Given the description of an element on the screen output the (x, y) to click on. 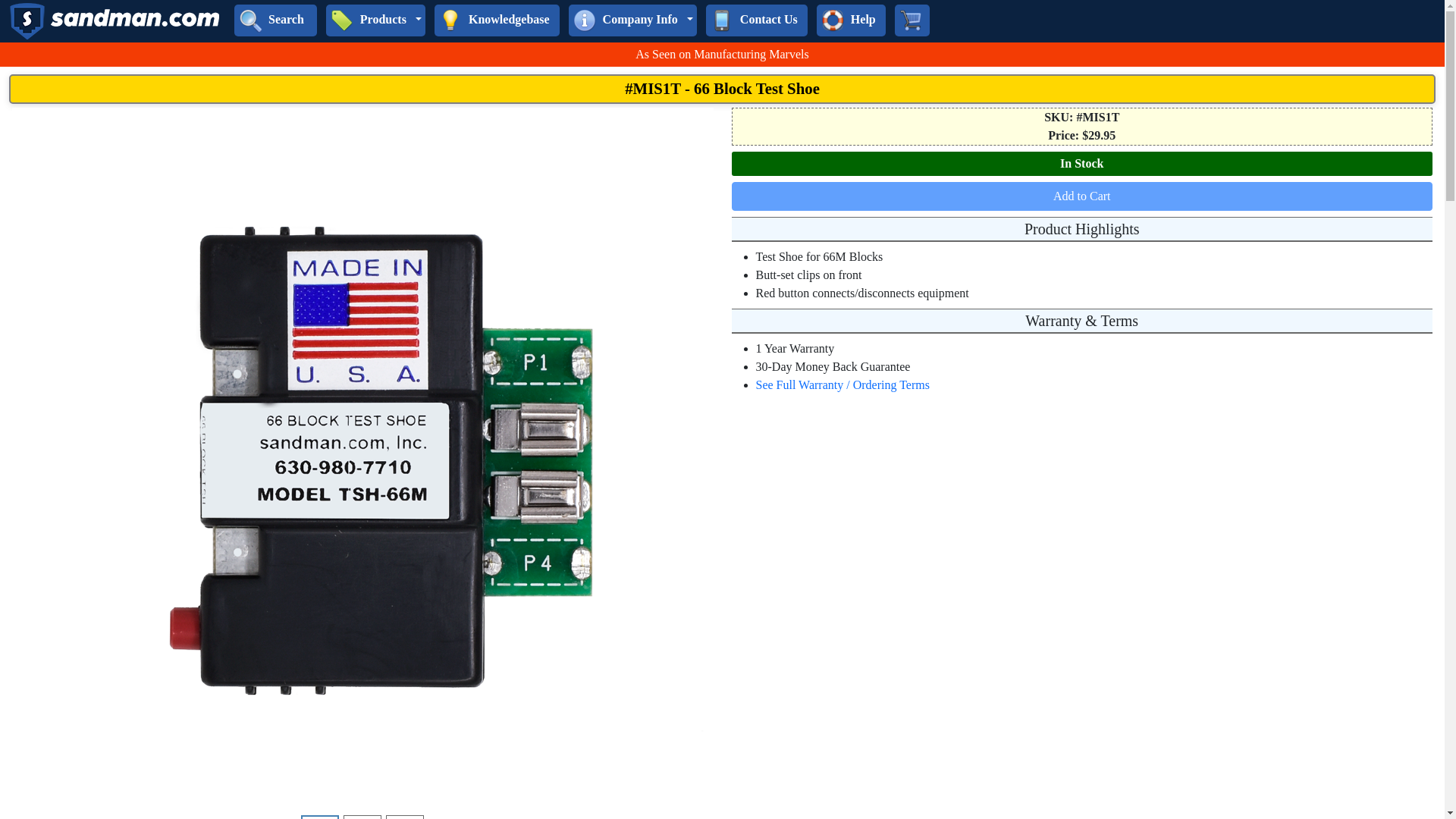
Search (250, 20)
Knowledgebase (450, 20)
Help (832, 20)
Products (341, 20)
Contact Us (721, 20)
Company Information (584, 20)
66 BLOCK TEST SHOE (404, 816)
View Cart (910, 20)
